Given the description of an element on the screen output the (x, y) to click on. 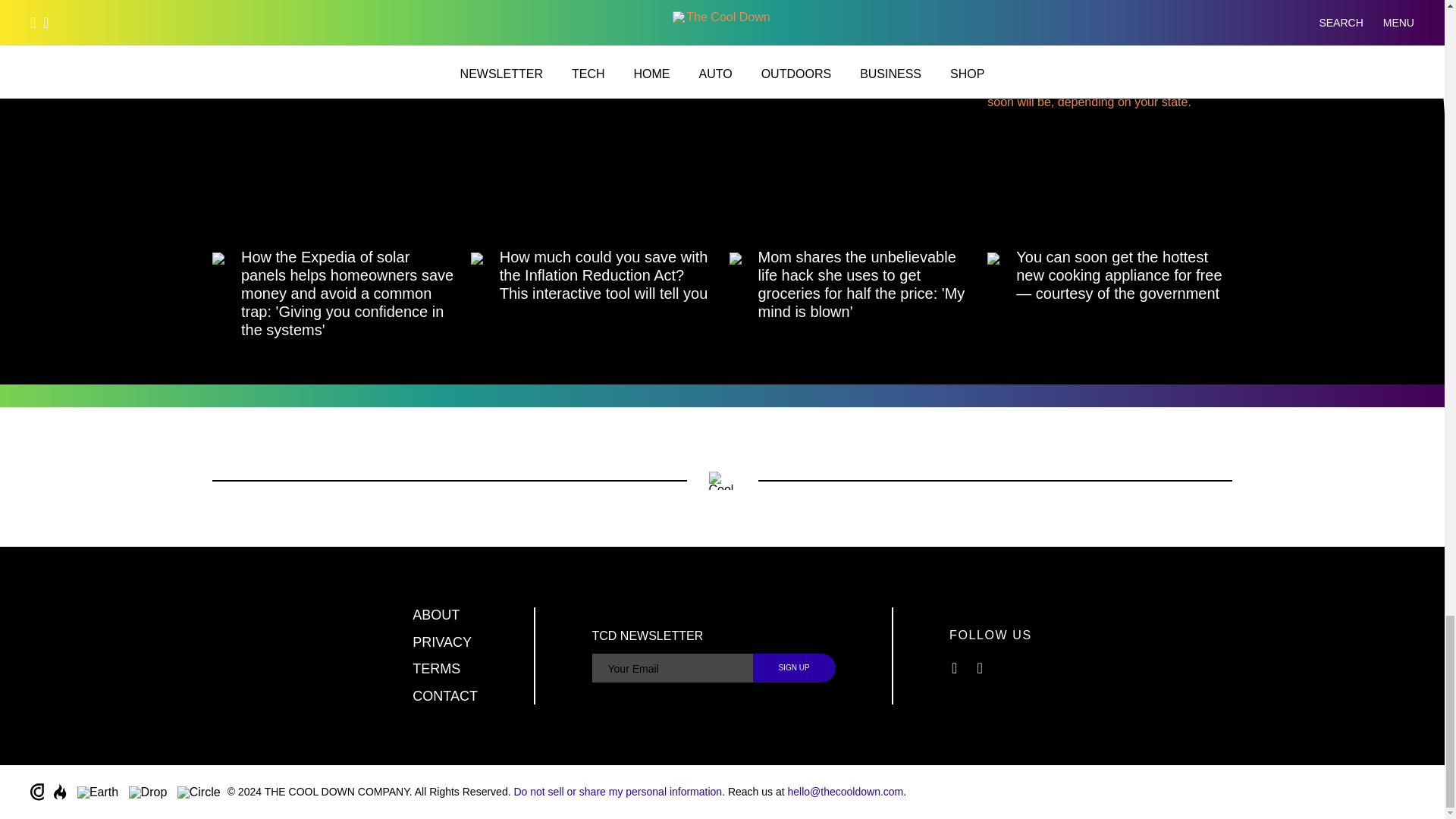
Sign Up (793, 667)
